Given the description of an element on the screen output the (x, y) to click on. 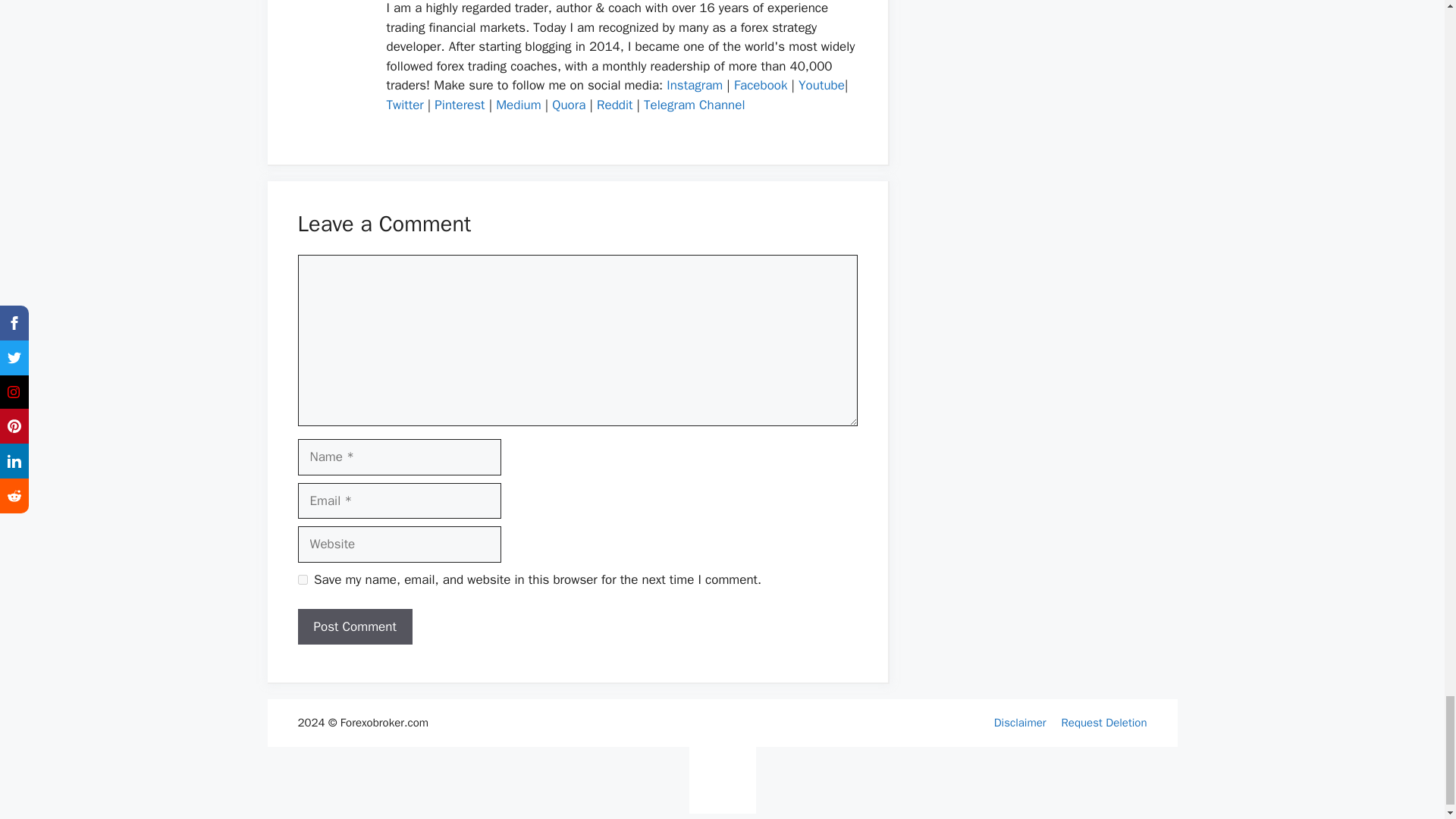
yes (302, 579)
Post Comment (354, 627)
